Given the description of an element on the screen output the (x, y) to click on. 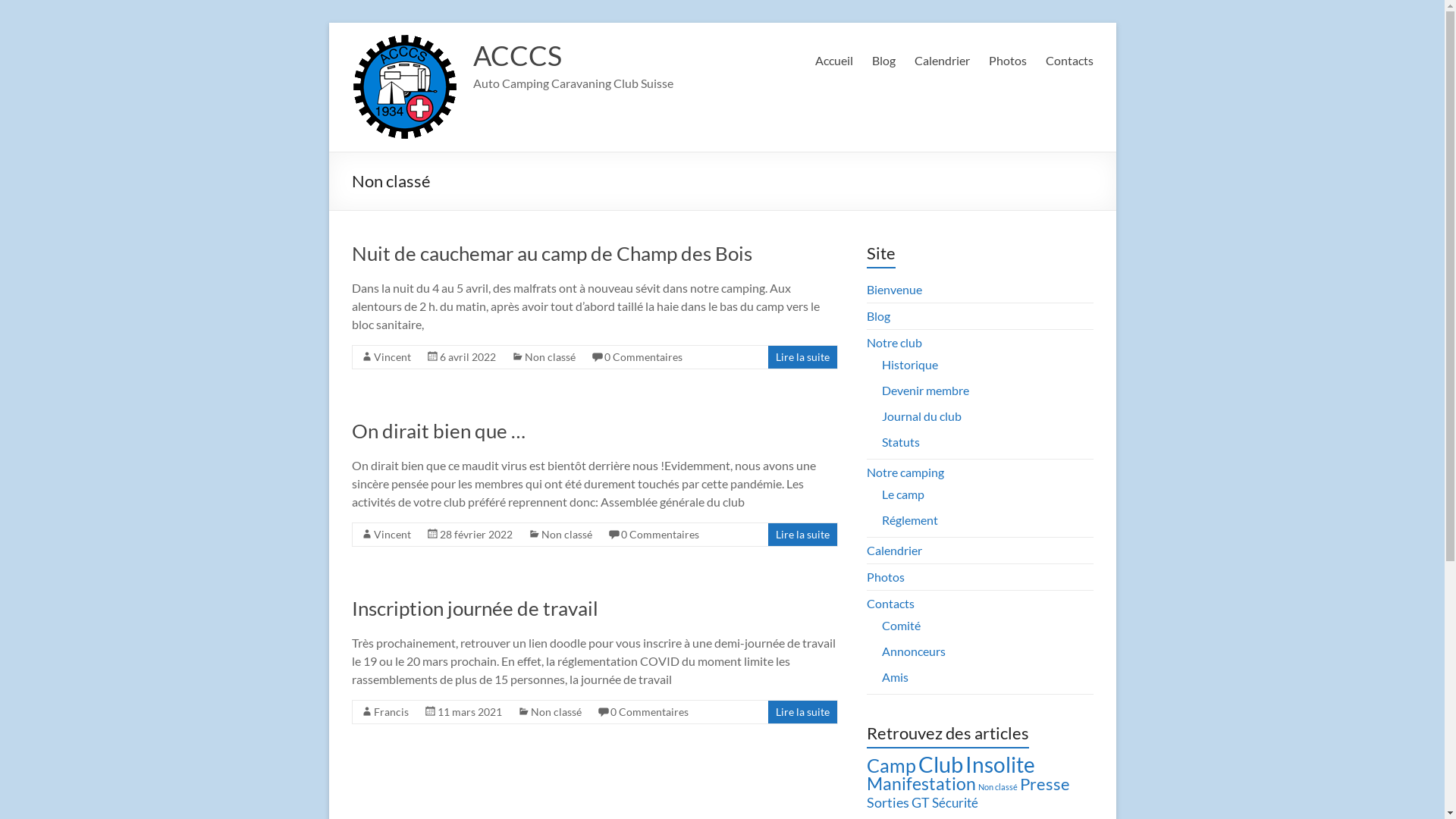
Francis Element type: text (390, 711)
Contacts Element type: text (1068, 60)
6 avril 2022 Element type: text (467, 356)
Presse Element type: text (1044, 783)
Contacts Element type: text (890, 603)
0 Commentaires Element type: text (642, 356)
Devenir membre Element type: text (925, 389)
0 Commentaires Element type: text (659, 533)
Calendrier Element type: text (941, 60)
11 mars 2021 Element type: text (468, 711)
Manifestation Element type: text (920, 782)
Nuit de cauchemar au camp de Champ des Bois Element type: text (551, 253)
Blog Element type: text (878, 315)
Amis Element type: text (894, 676)
Aller au contenu Element type: text (327, 21)
Journal du club Element type: text (921, 415)
Notre club Element type: text (894, 342)
Notre camping Element type: text (905, 471)
ACCCS Element type: text (517, 55)
Blog Element type: text (883, 60)
0 Commentaires Element type: text (648, 711)
Calendrier Element type: text (894, 549)
Annonceurs Element type: text (913, 650)
Club Element type: text (940, 763)
Statuts Element type: text (900, 441)
Bienvenue Element type: text (894, 289)
Lire la suite Element type: text (802, 356)
Sorties GT Element type: text (897, 801)
Lire la suite Element type: text (802, 711)
Photos Element type: text (1007, 60)
Photos Element type: text (885, 576)
Insolite Element type: text (1000, 764)
Vincent Element type: text (391, 533)
Camp Element type: text (891, 765)
Historique Element type: text (909, 364)
Vincent Element type: text (391, 356)
Lire la suite Element type: text (802, 533)
Le camp Element type: text (902, 493)
Accueil Element type: text (833, 60)
